Given the description of an element on the screen output the (x, y) to click on. 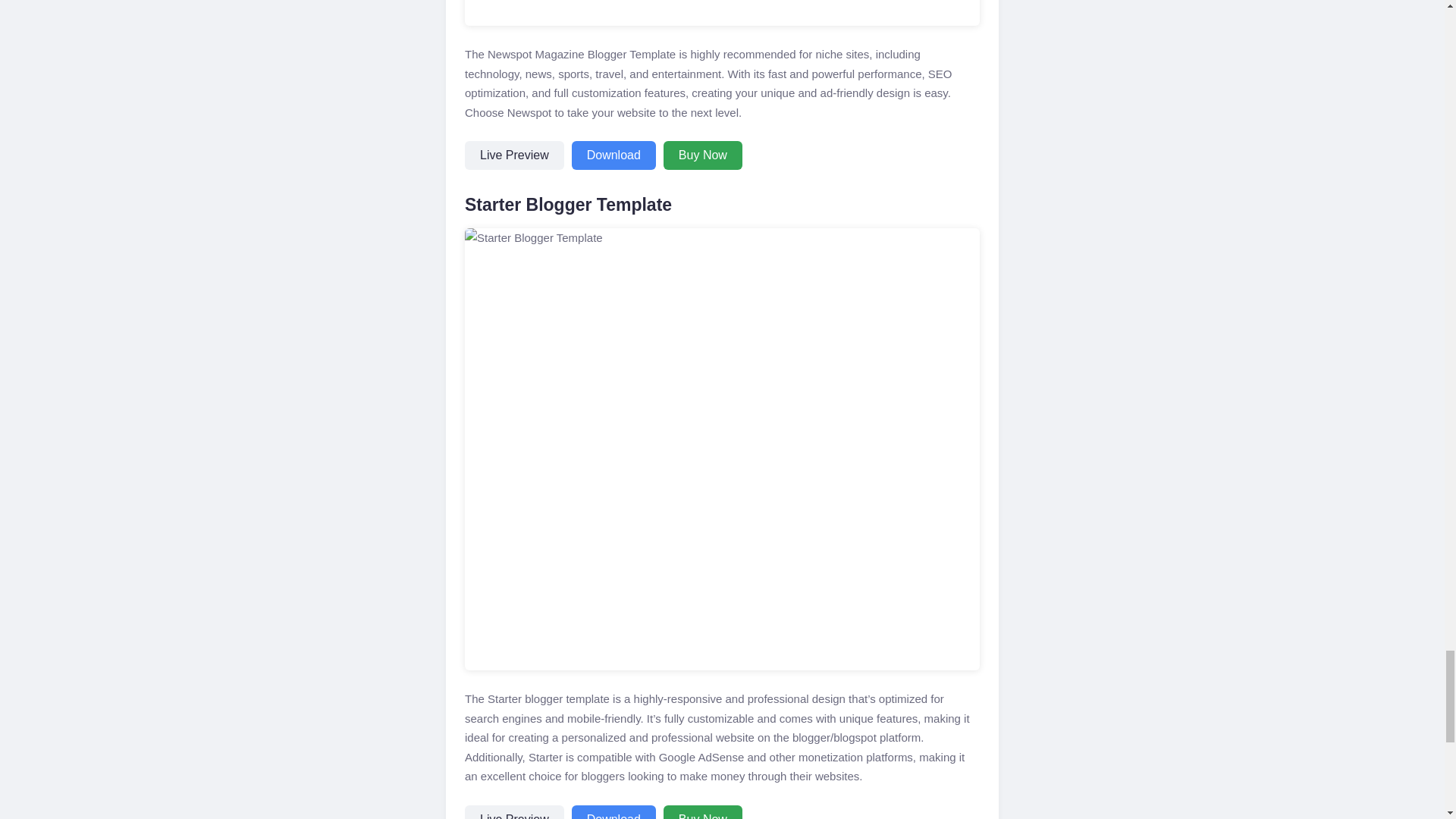
Newspot Blogger Template (721, 12)
